Given the description of an element on the screen output the (x, y) to click on. 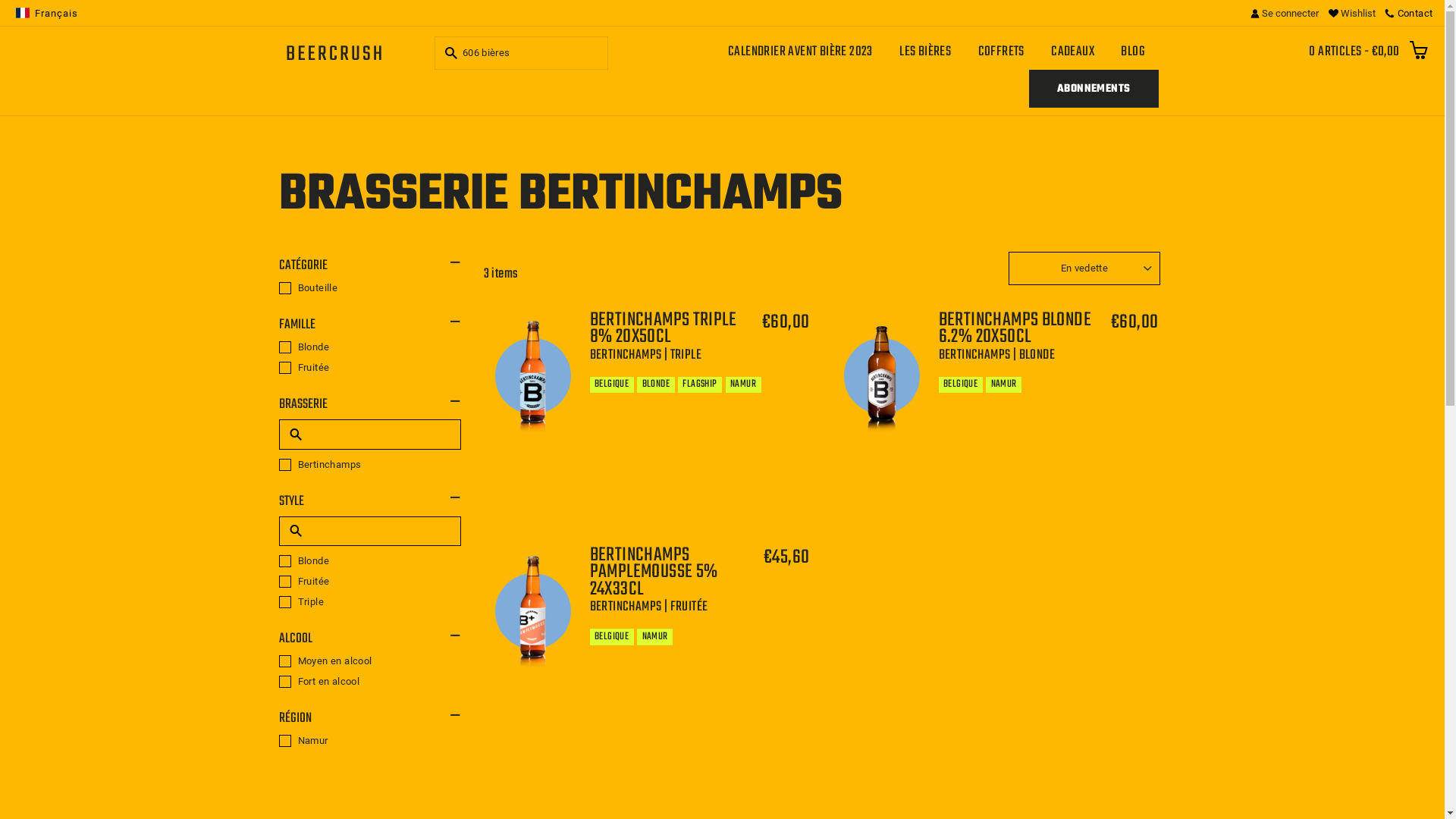
STYLE Element type: text (370, 501)
Blonde Element type: text (370, 560)
Moyen en alcool Element type: text (370, 660)
BRASSERIE Element type: text (370, 404)
Bouteille Element type: text (370, 287)
Recherche Element type: text (448, 53)
Wishlist Element type: text (1351, 12)
ALCOOL Element type: text (370, 638)
ABONNEMENTS Element type: text (1093, 88)
Triple Element type: text (370, 601)
BLOG Element type: text (1132, 51)
CADEAUX Element type: text (1072, 51)
FAMILLE Element type: text (370, 324)
Fort en alcool Element type: text (370, 681)
Bertinchamps Element type: text (370, 464)
Ajouter au panier Element type: text (749, 476)
Namur Element type: text (370, 740)
Ajouter au panier Element type: text (1098, 476)
Blonde Element type: text (370, 346)
COFFRETS Element type: text (1000, 51)
Se connecter Element type: text (1284, 12)
Passer au contenu Element type: text (0, 0)
Ajouter au panier Element type: text (749, 727)
